Given the description of an element on the screen output the (x, y) to click on. 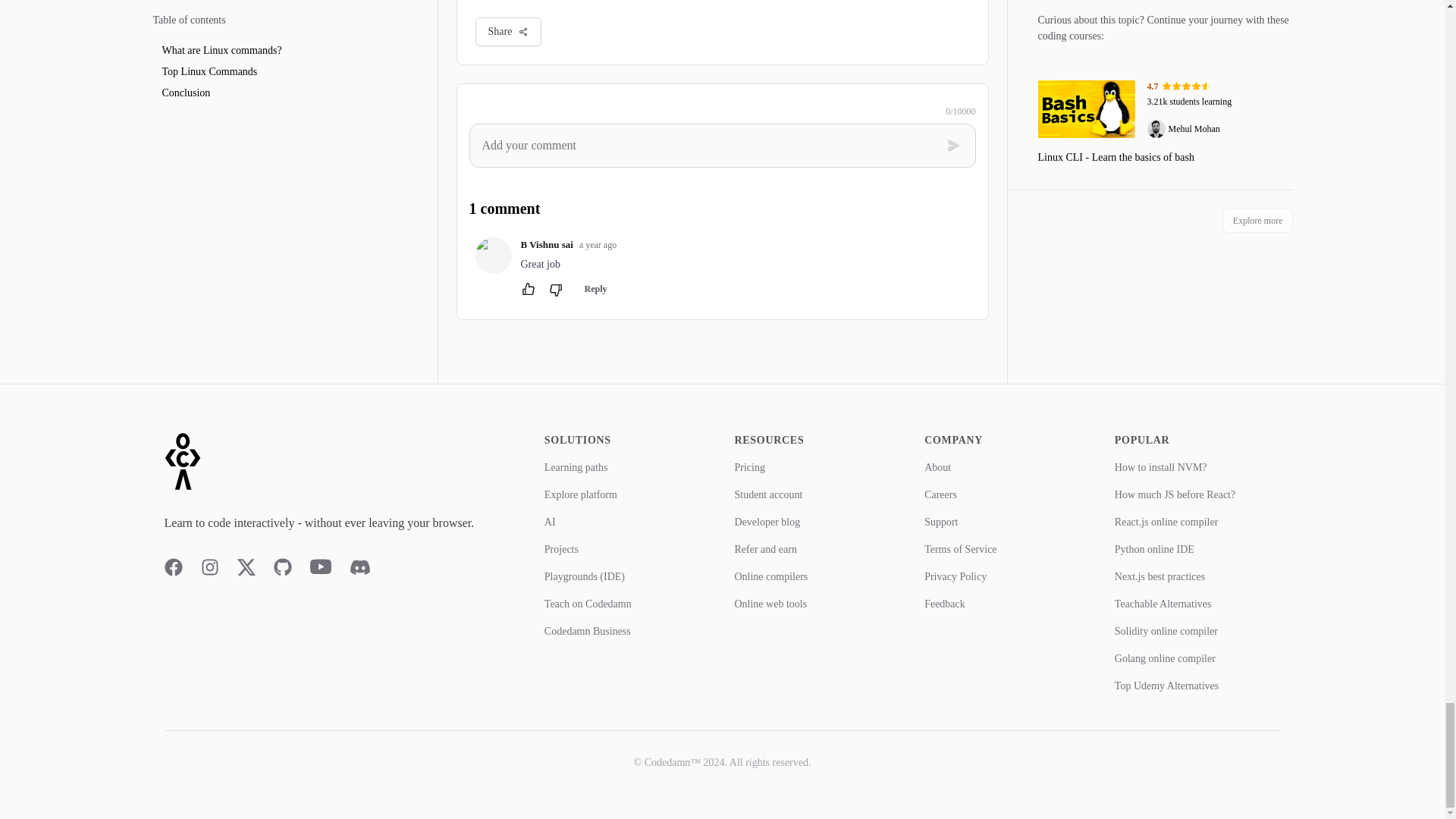
B Vishnu sai (545, 244)
Explore platform (580, 494)
Reply (595, 289)
GitHub (282, 566)
Projects (561, 549)
Teach on Codedamn (587, 603)
Share (507, 31)
Discord (359, 567)
Learning paths (576, 467)
YouTube (319, 567)
Facebook (172, 566)
AI (550, 521)
Twitter (244, 566)
Instagram (209, 566)
